Given the description of an element on the screen output the (x, y) to click on. 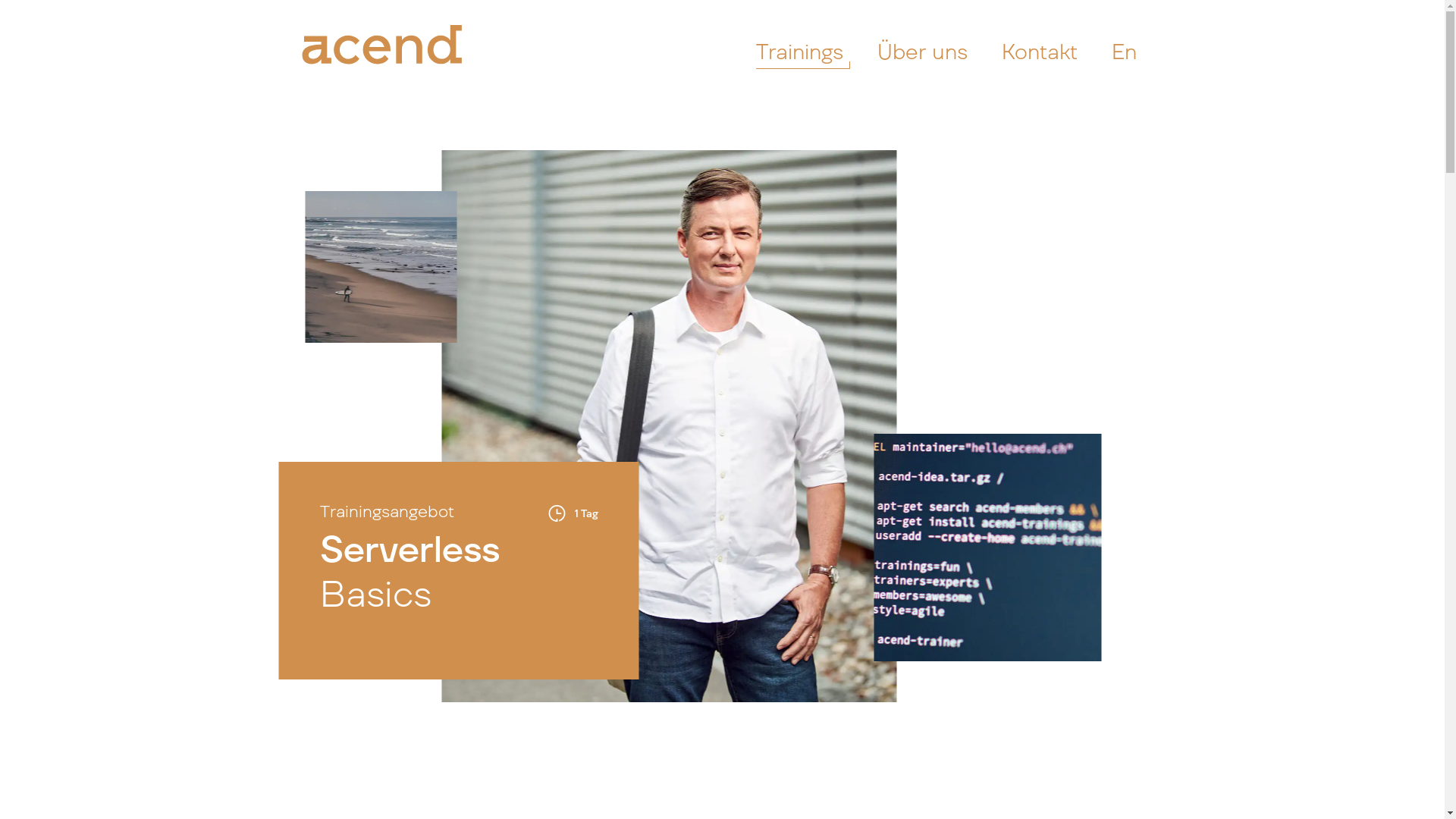
Kontakt Element type: text (1042, 49)
Trainings Element type: text (802, 49)
En Element type: text (1127, 49)
acend gmbh Element type: text (415, 49)
